Given the description of an element on the screen output the (x, y) to click on. 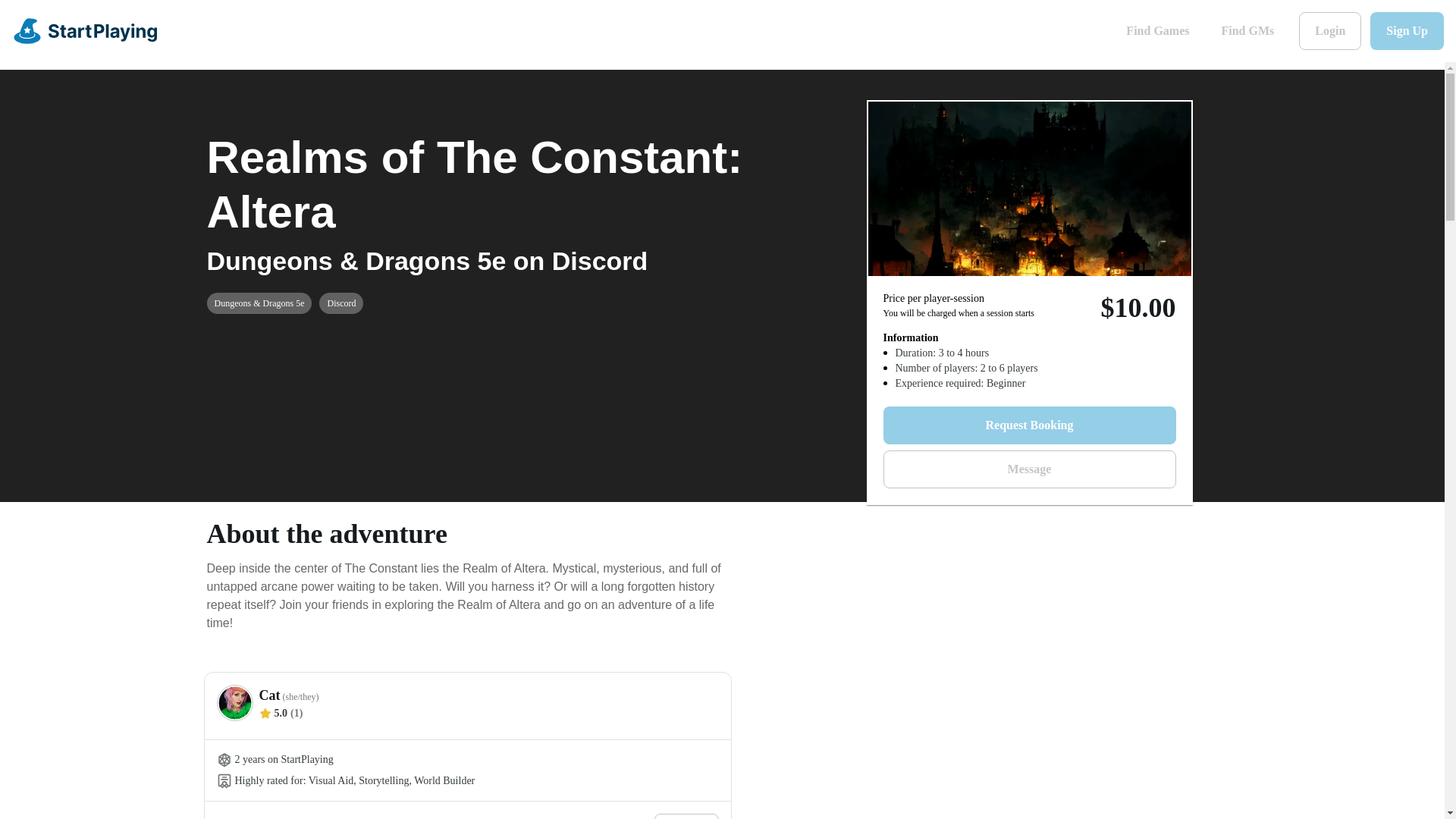
Find GMs (1247, 30)
Login (1329, 30)
Sign Up (1407, 30)
Find Games (1157, 30)
Request Booking (1028, 425)
Message (1028, 469)
